Given the description of an element on the screen output the (x, y) to click on. 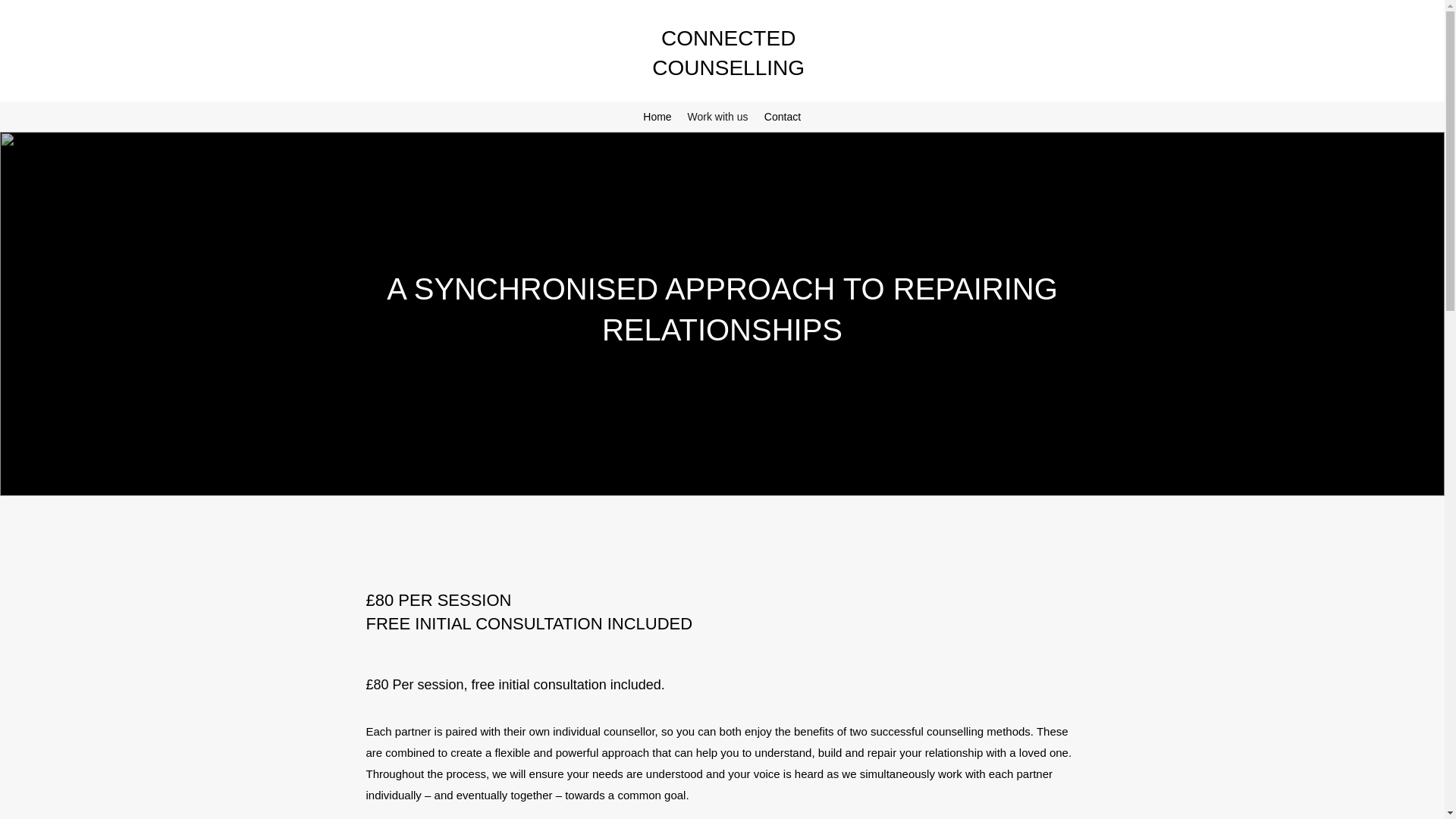
Home (656, 116)
Work with us (717, 116)
CONNECTED COUNSELLING (728, 52)
Contact (782, 116)
